Given the description of an element on the screen output the (x, y) to click on. 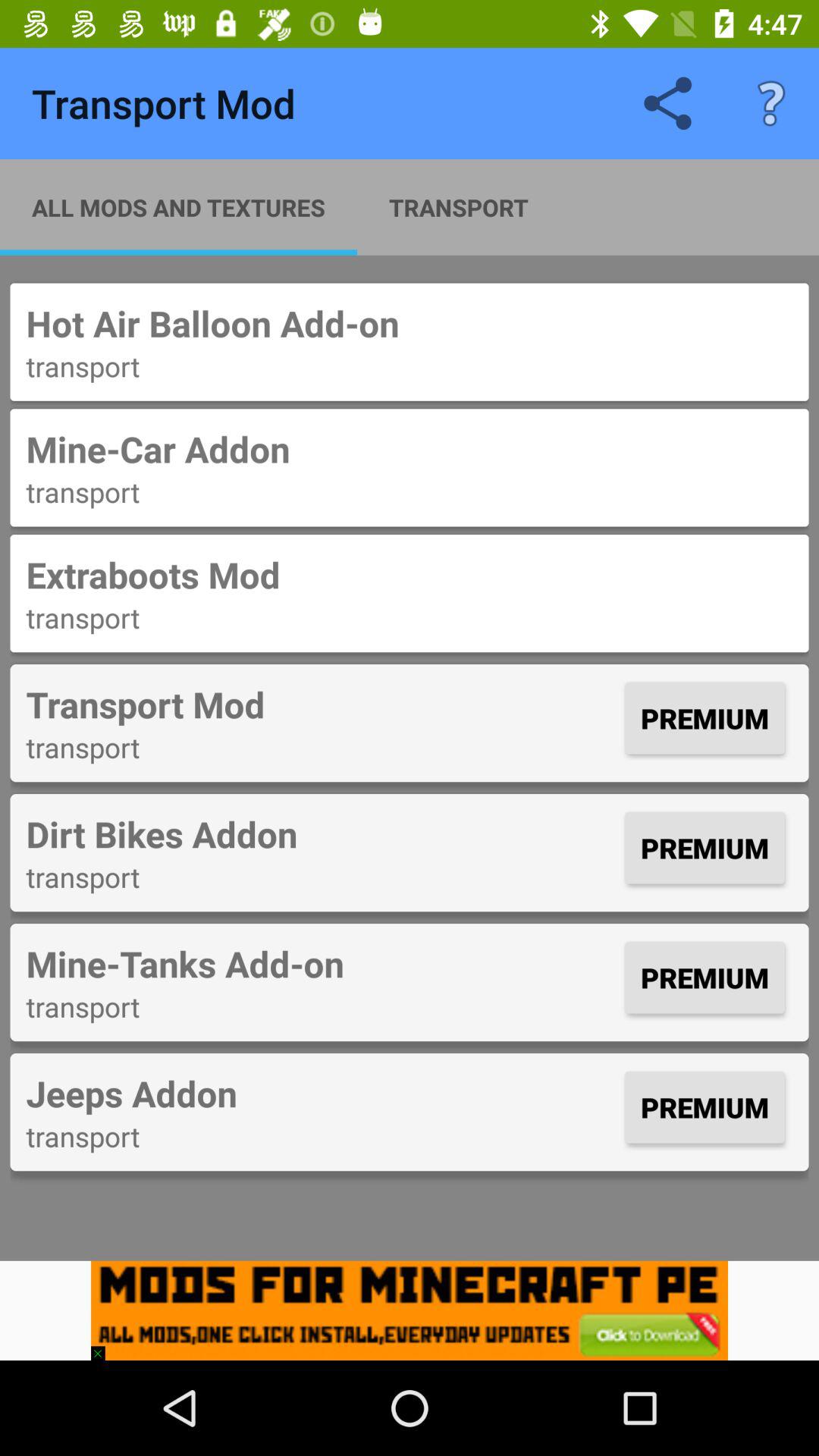
choose the icon below the transport item (321, 833)
